Given the description of an element on the screen output the (x, y) to click on. 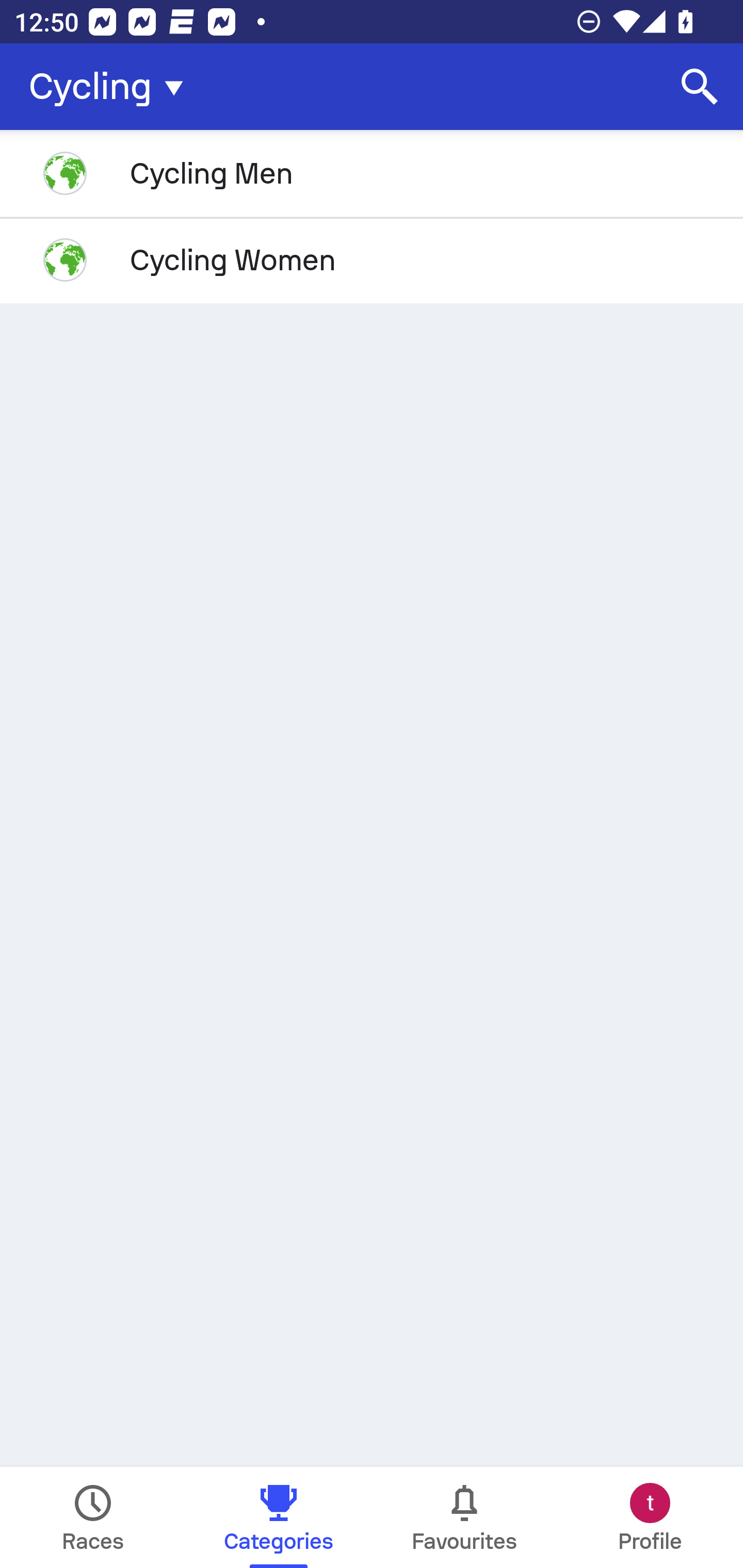
Cycling (111, 86)
Search (699, 86)
Cycling Men (371, 173)
Cycling Women (371, 259)
Races (92, 1517)
Favourites (464, 1517)
Profile (650, 1517)
